Given the description of an element on the screen output the (x, y) to click on. 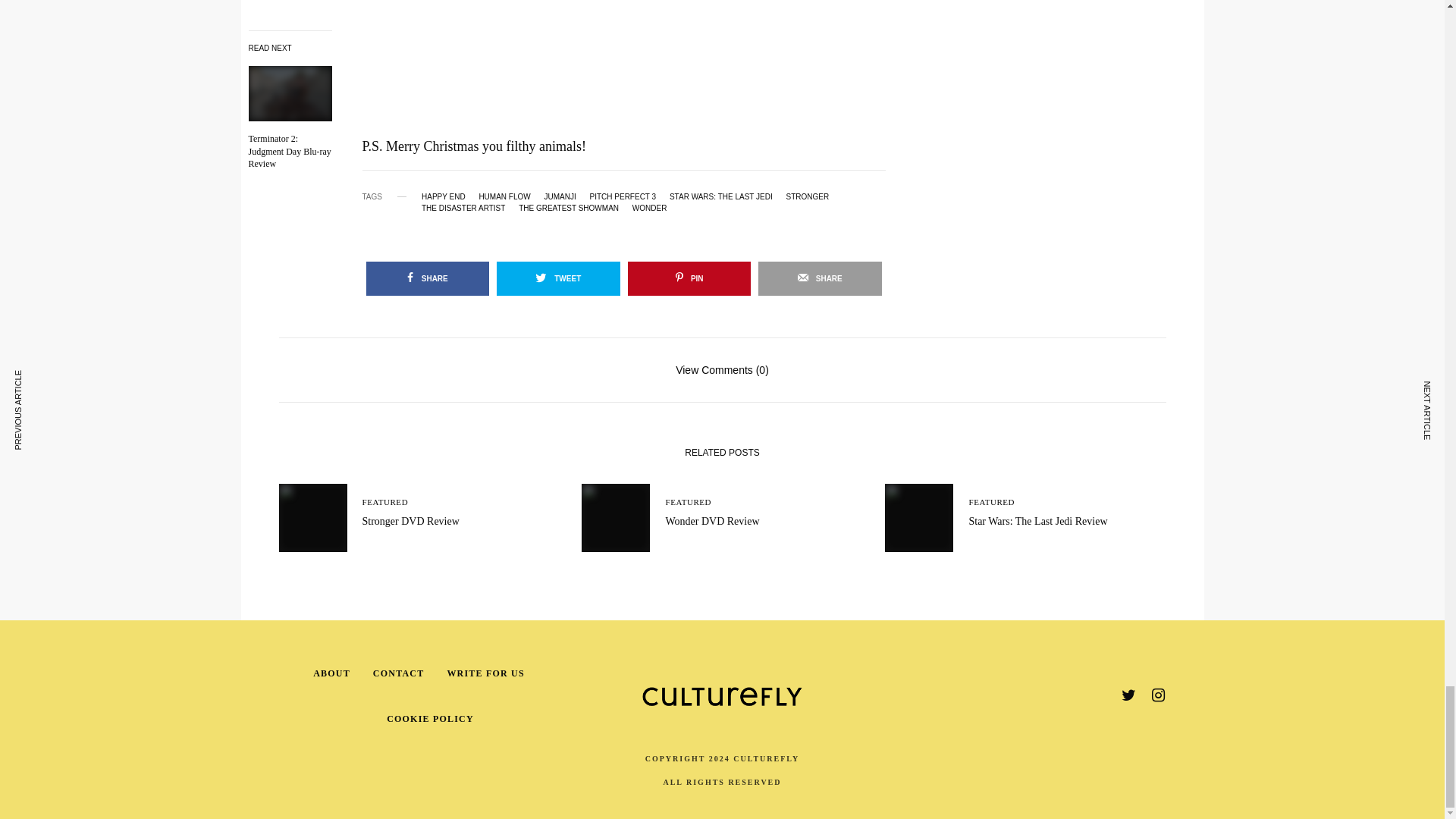
TWEET (558, 278)
THE GREATEST SHOWMAN (568, 208)
WONDER (648, 208)
PIN (689, 278)
SHARE (820, 278)
JUMANJI (560, 196)
HUMAN FLOW (504, 196)
PITCH PERFECT 3 (622, 196)
SHARE (427, 278)
STRONGER (807, 196)
